Given the description of an element on the screen output the (x, y) to click on. 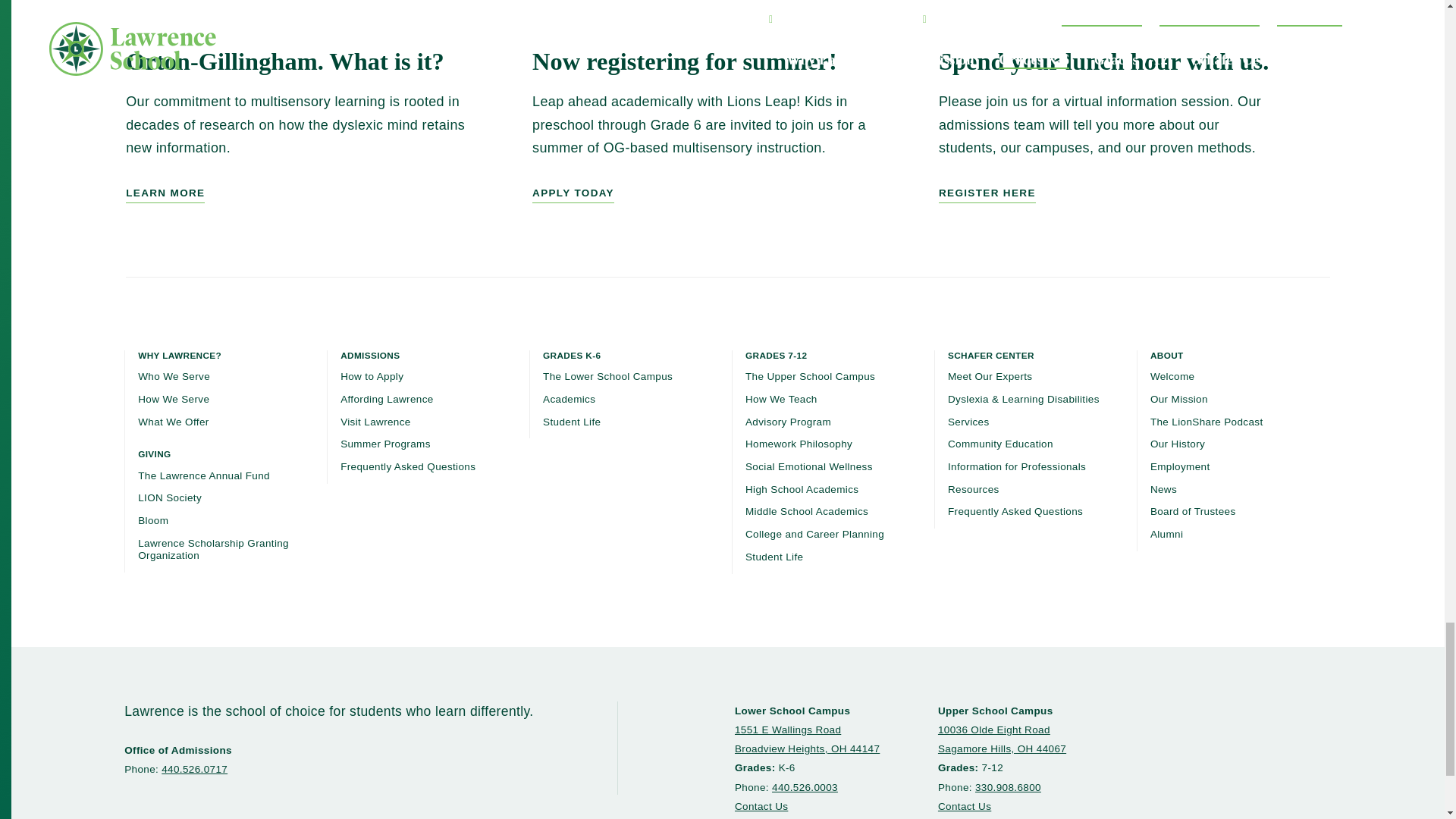
Now registering for summer! (727, 125)
Spend your lunch hour with us. (1134, 125)
Orton-Gillingham. What is it? (320, 125)
